Given the description of an element on the screen output the (x, y) to click on. 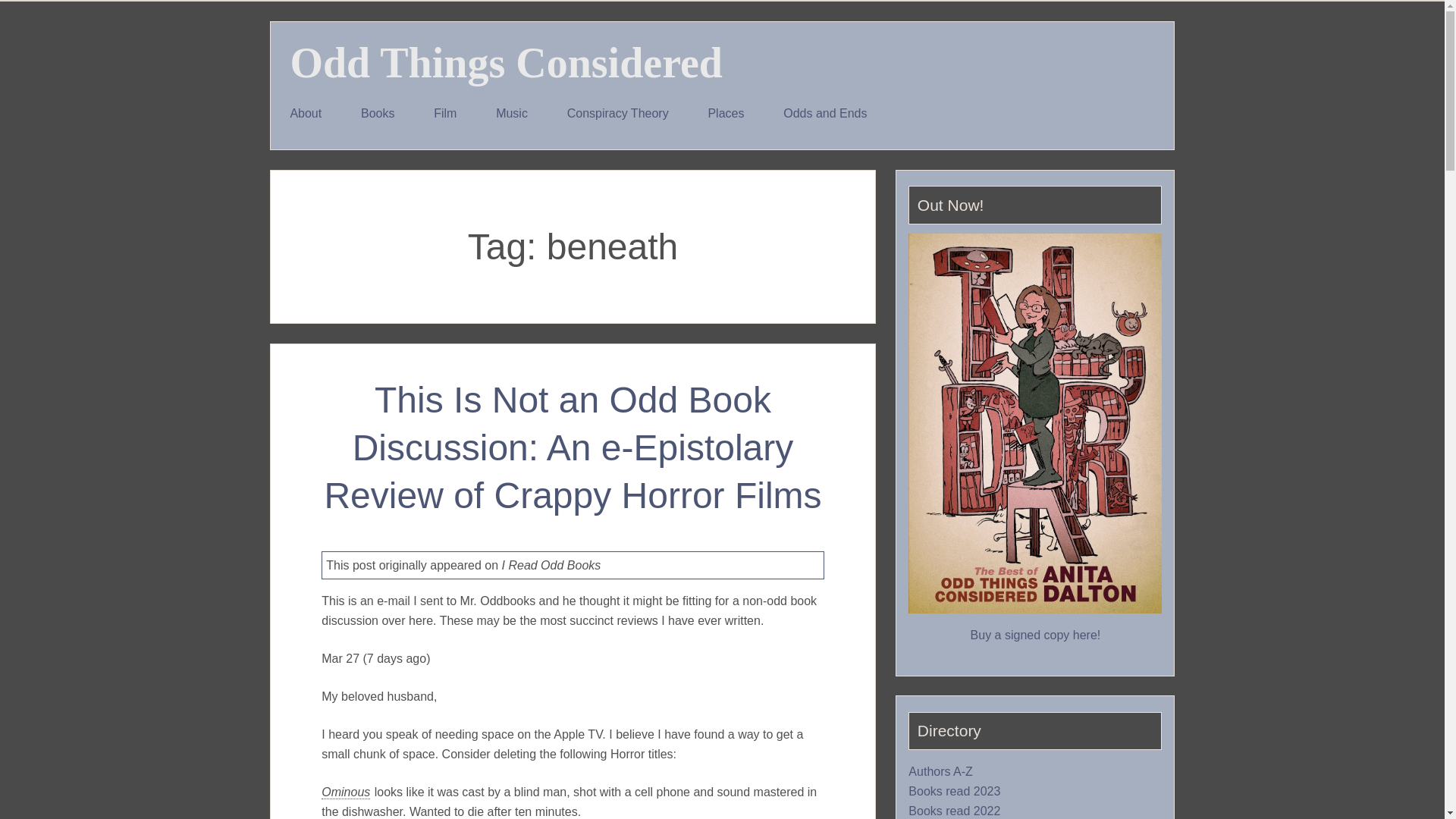
Odd Things Considered (505, 62)
Books (376, 114)
About (306, 114)
Odds and Ends (824, 114)
Music (511, 114)
Ominous (345, 792)
Film (444, 114)
Places (726, 114)
Conspiracy Theory (617, 114)
